Given the description of an element on the screen output the (x, y) to click on. 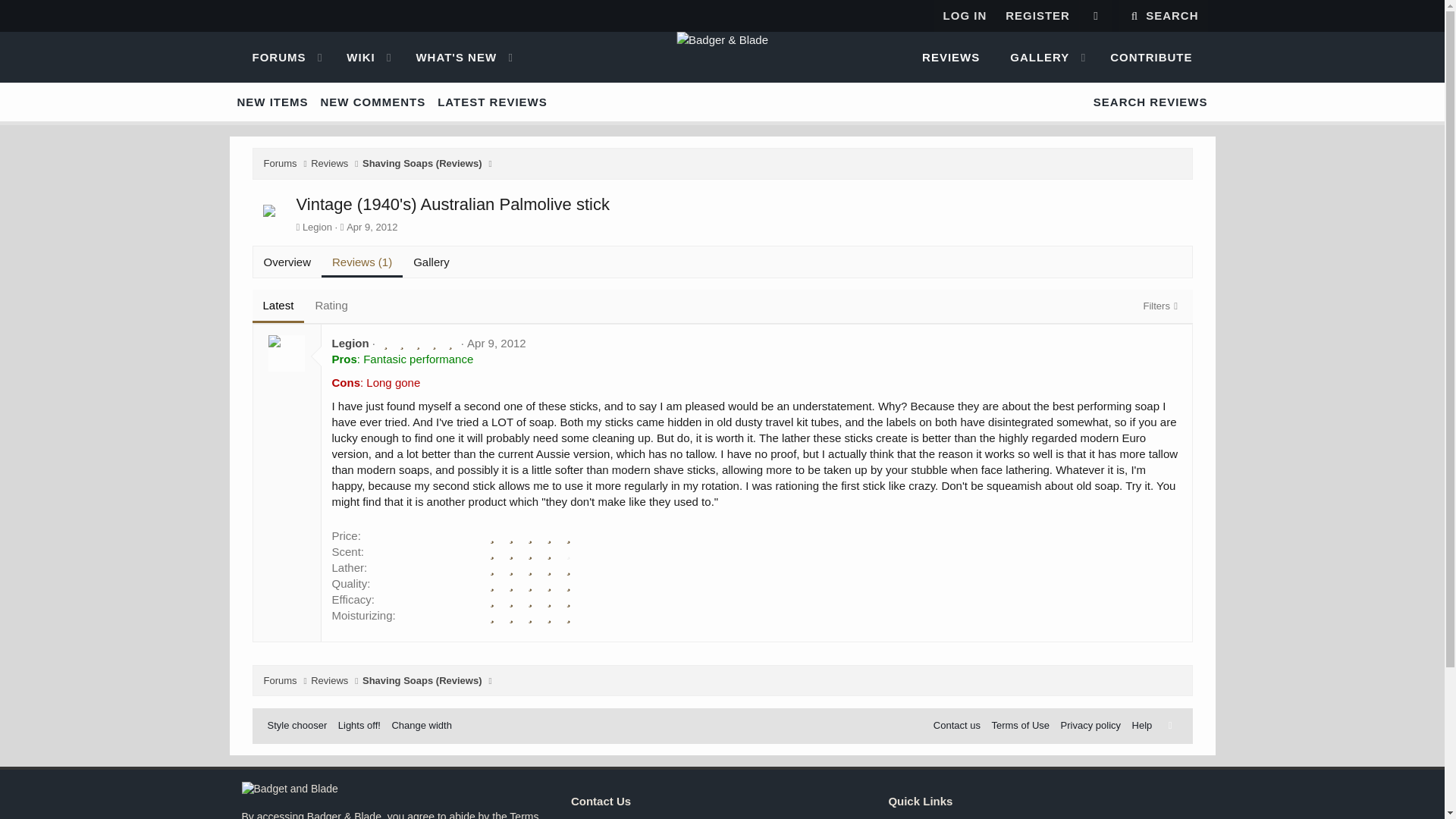
Latest Rating (304, 305)
WIKI (354, 56)
Apr 9, 2012 at 6:44 PM (371, 226)
CONTRIBUTE (1150, 56)
Search (1163, 15)
REGISTER (1036, 15)
REVIEWS (950, 56)
SEARCH (1163, 15)
LOG IN (964, 15)
WHAT'S NEW (448, 56)
Lights off! (1095, 15)
FORUMS (271, 56)
Apr 9, 2012 at 6:56 PM (721, 56)
Wiki (496, 342)
